Given the description of an element on the screen output the (x, y) to click on. 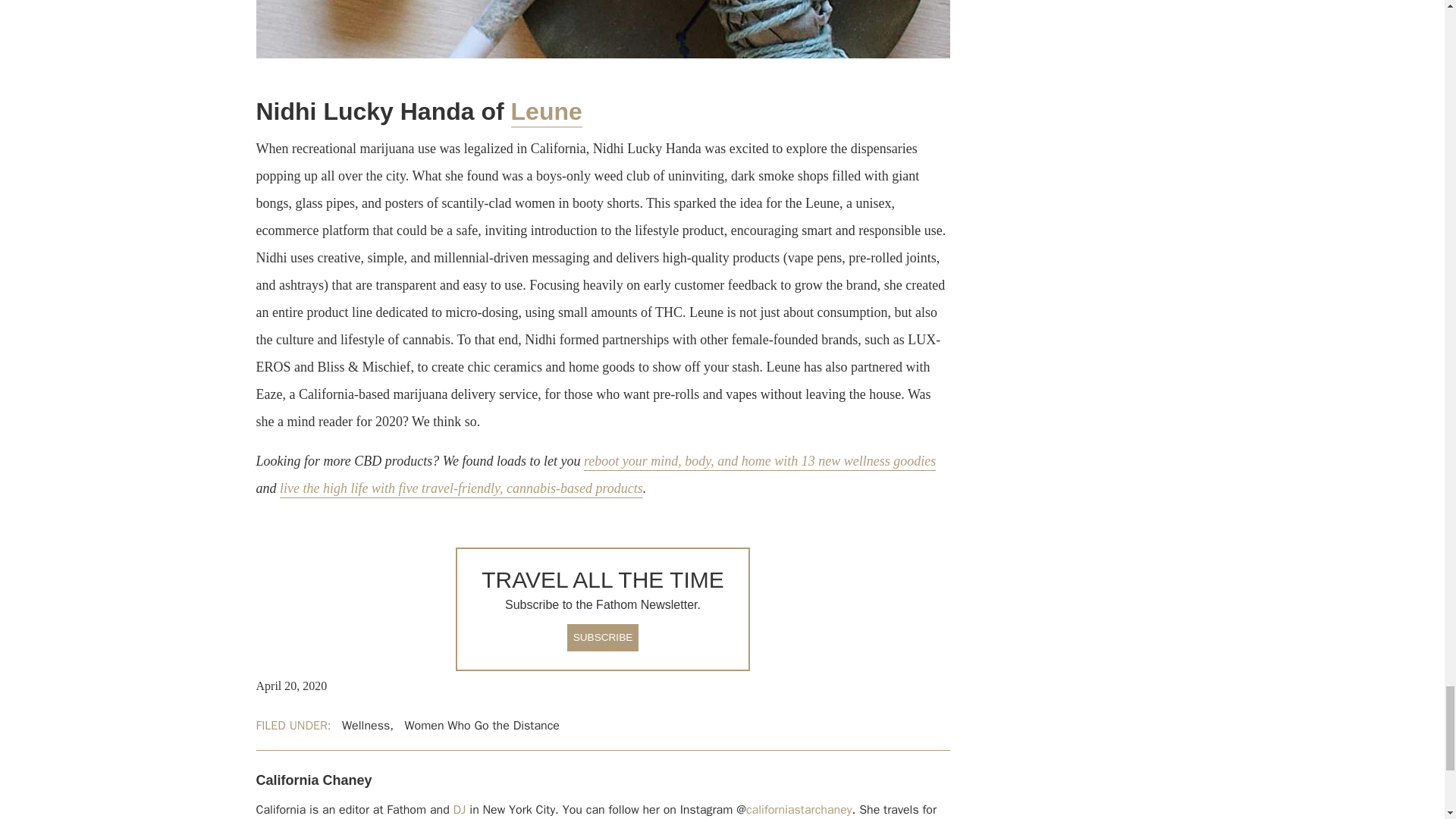
Leune (546, 112)
Wellness (366, 725)
SUBSCRIBE (603, 637)
Women Who Go the Distance (481, 725)
